Given the description of an element on the screen output the (x, y) to click on. 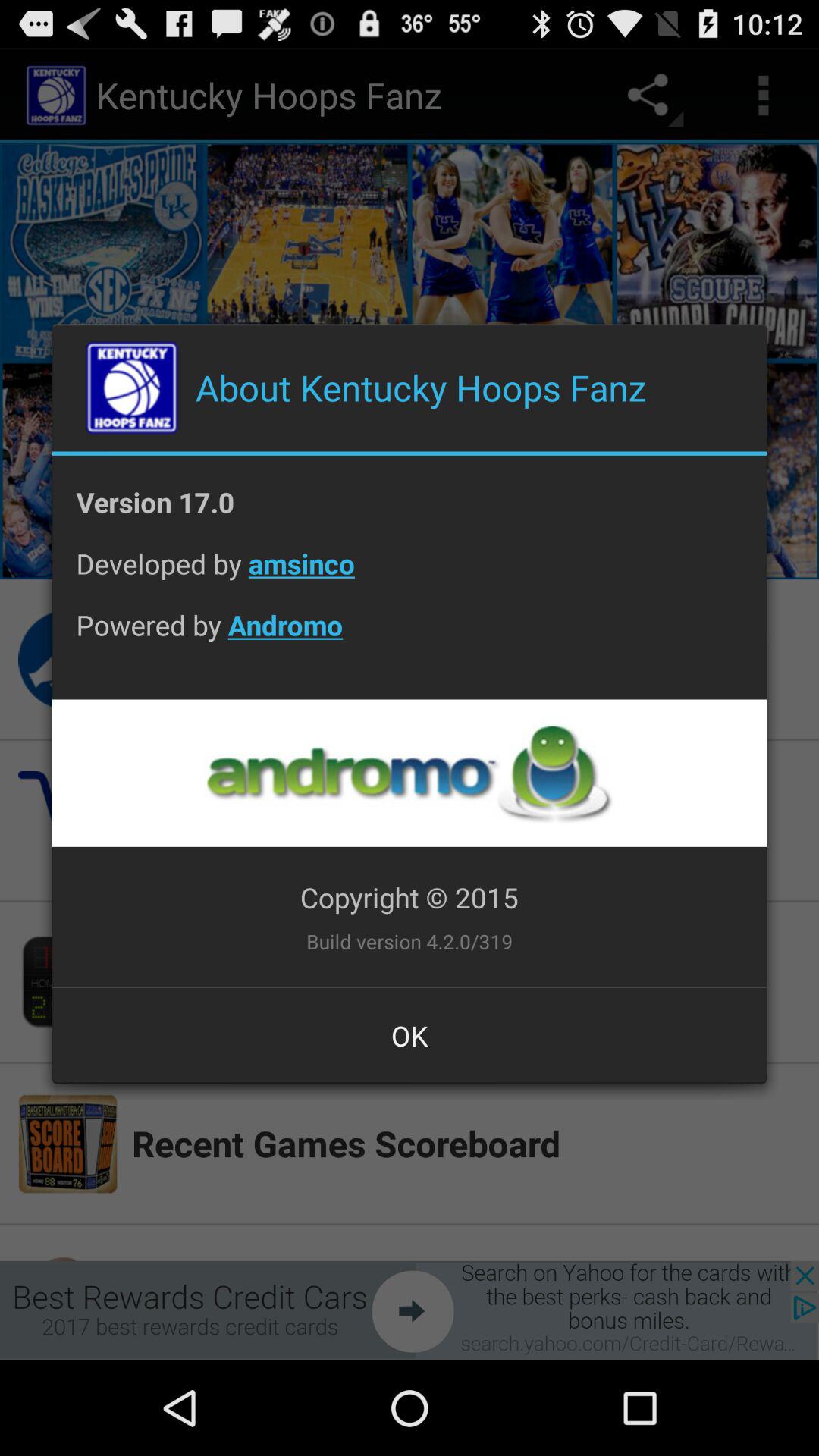
press app below powered by andromo (408, 772)
